Given the description of an element on the screen output the (x, y) to click on. 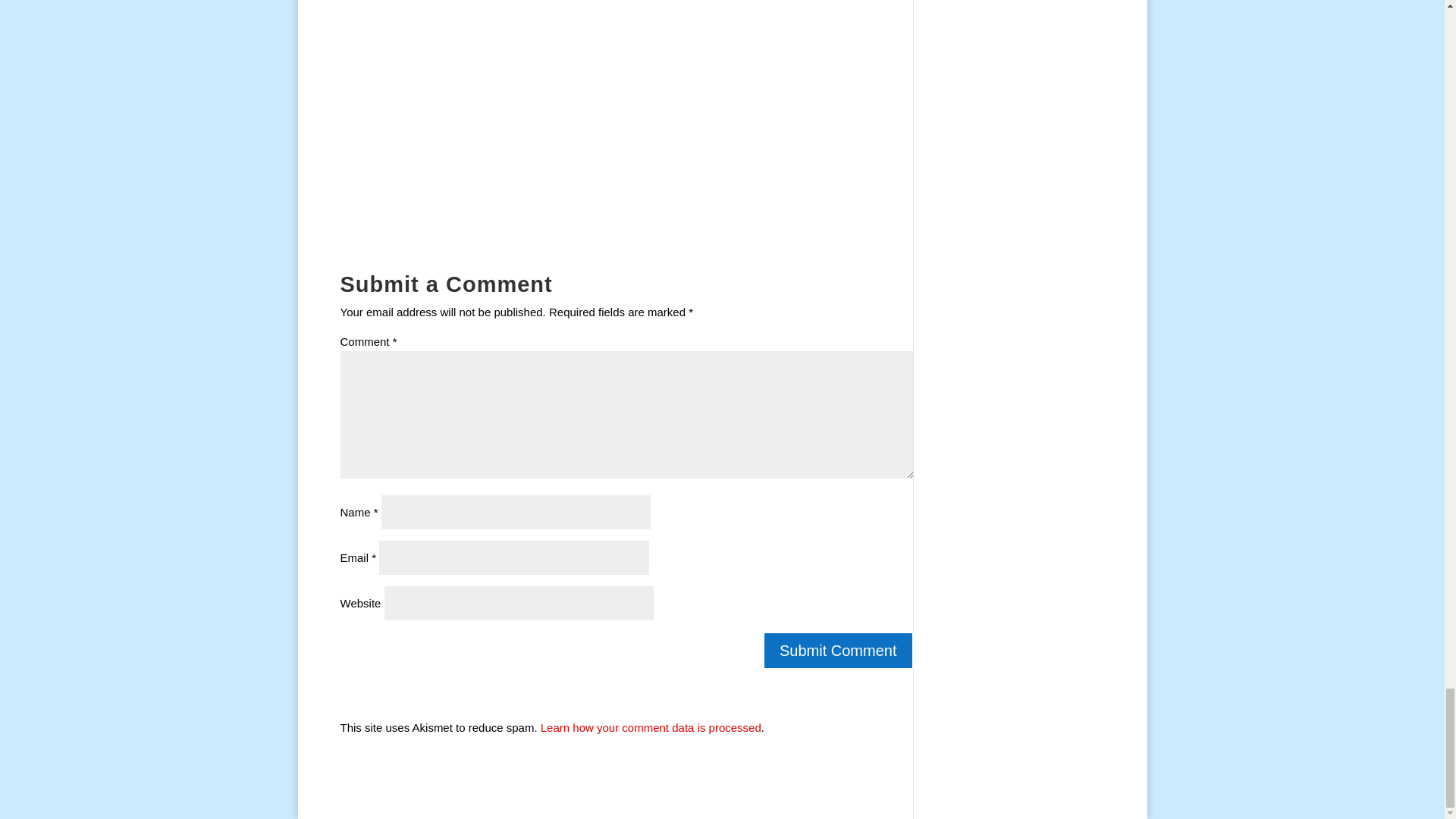
Submit Comment (838, 650)
